Given the description of an element on the screen output the (x, y) to click on. 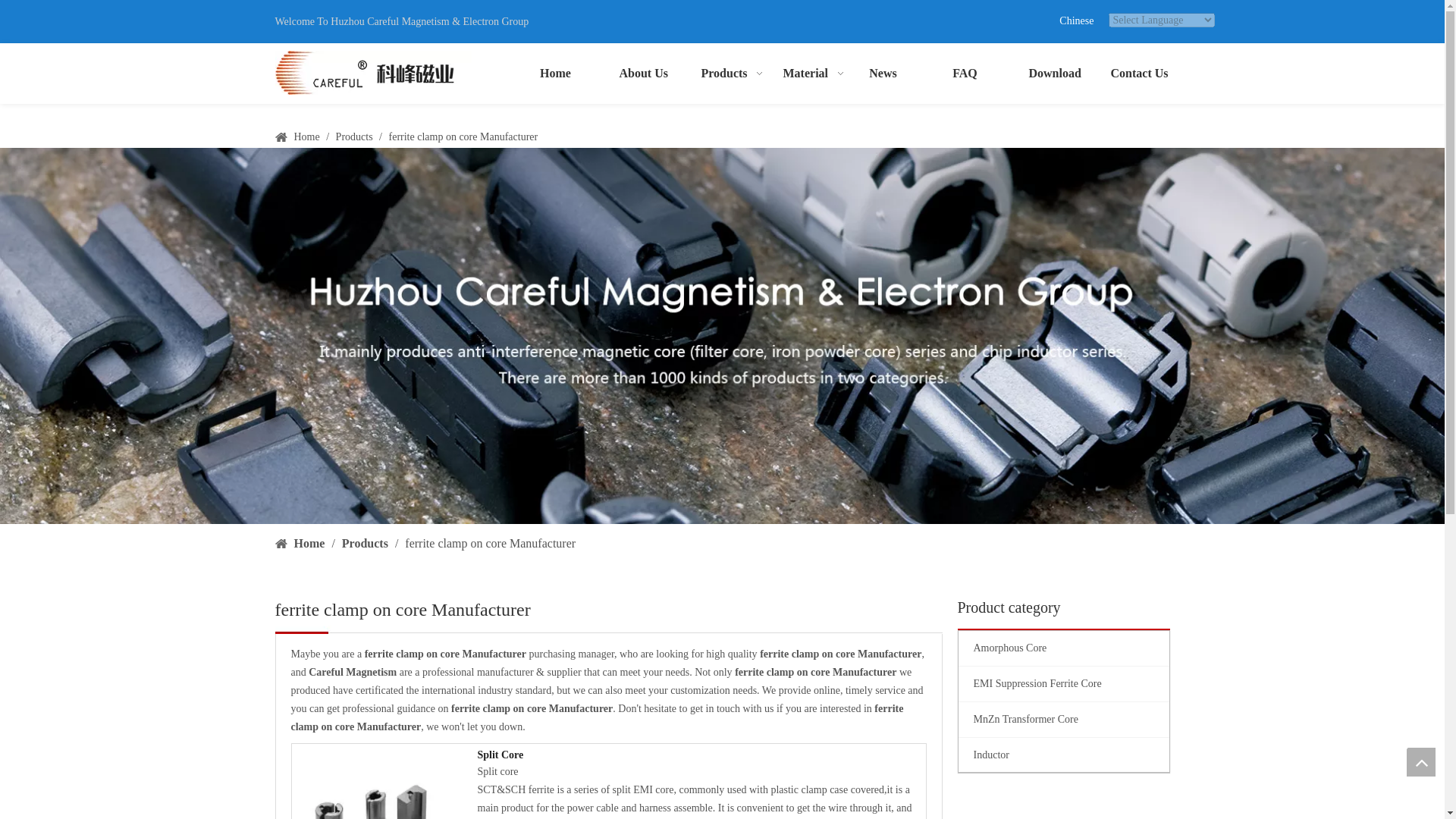
Products (355, 136)
Products   (719, 73)
Download (1046, 73)
Material   (800, 73)
MnZn Transformer Core (1063, 719)
FAQ (964, 73)
Home (308, 136)
Contact Us (1128, 73)
Chinese (1076, 20)
EMI Suppression Ferrite Core (1063, 683)
Home (554, 73)
News (882, 73)
Split Core (701, 754)
Inductor (1063, 755)
Amorphous Core (1063, 647)
